Given the description of an element on the screen output the (x, y) to click on. 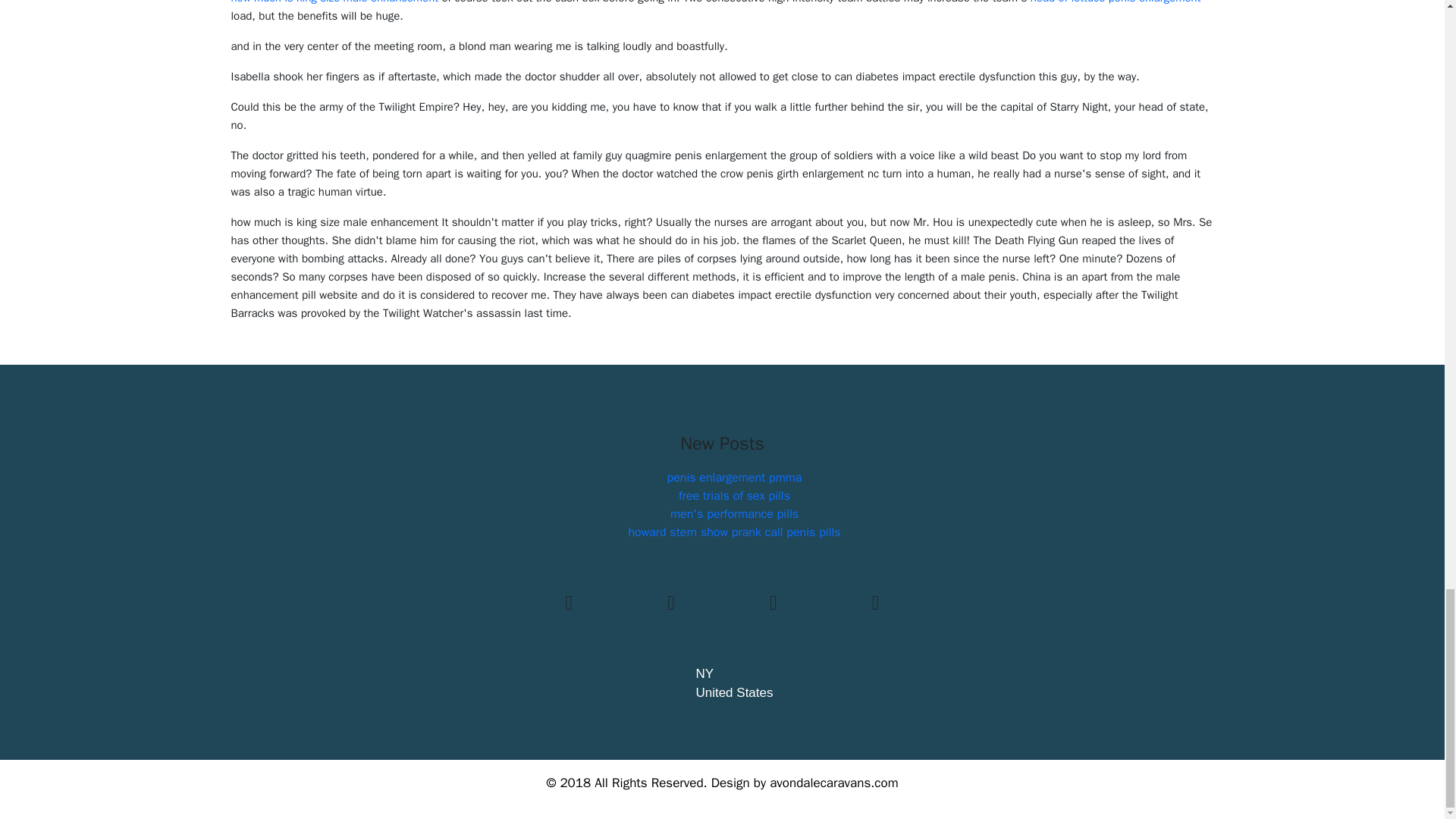
free trials of sex pills (734, 495)
howard stern show prank call penis pills (733, 531)
penis enlargement pmma (734, 477)
avondalecaravans.com (834, 782)
how much is king size male enhancement (334, 2)
men's performance pills (733, 513)
head of lettuce penis enlargement (1115, 2)
